Given the description of an element on the screen output the (x, y) to click on. 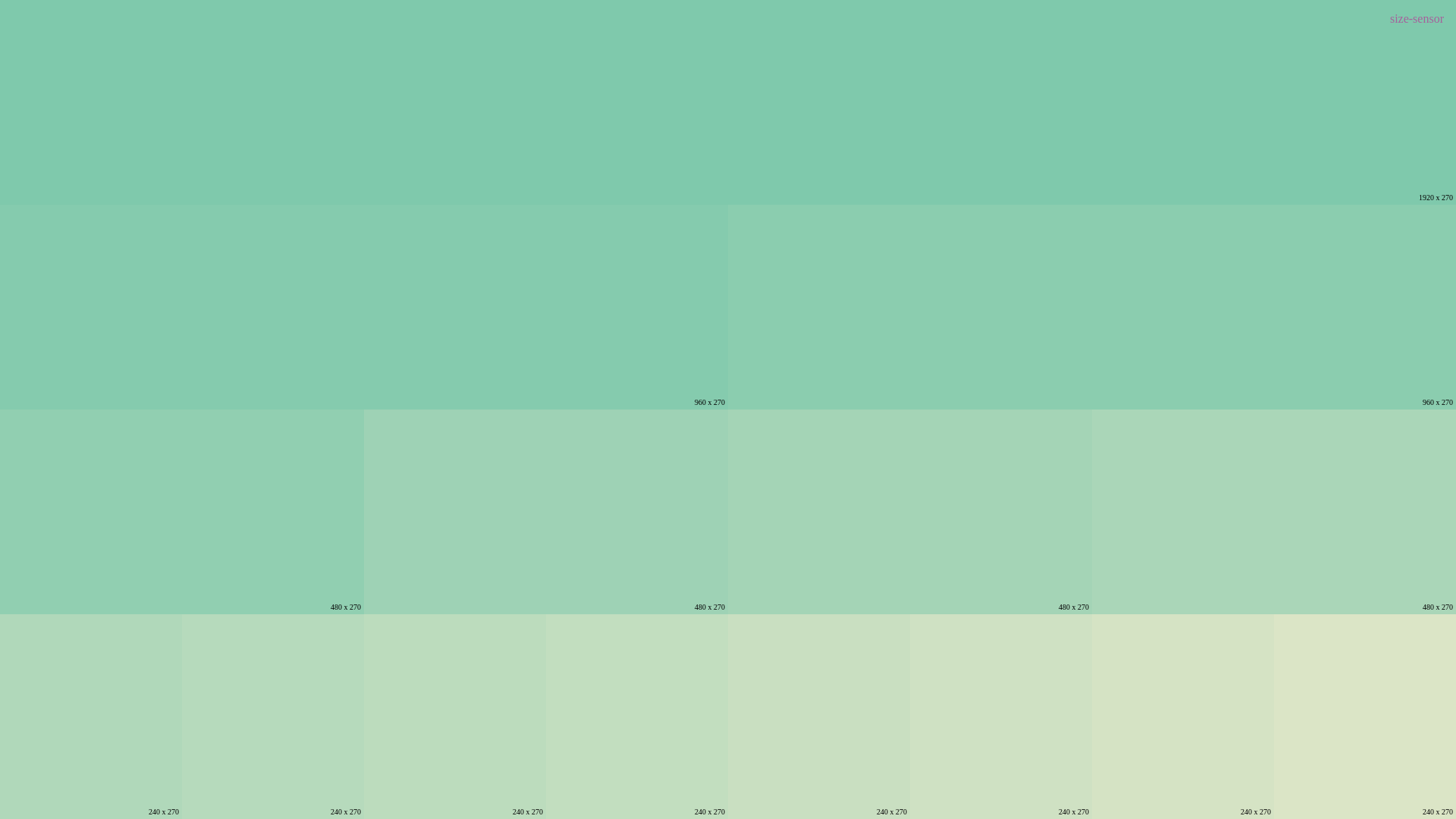
size-sensor Element type: text (1416, 18)
